Given the description of an element on the screen output the (x, y) to click on. 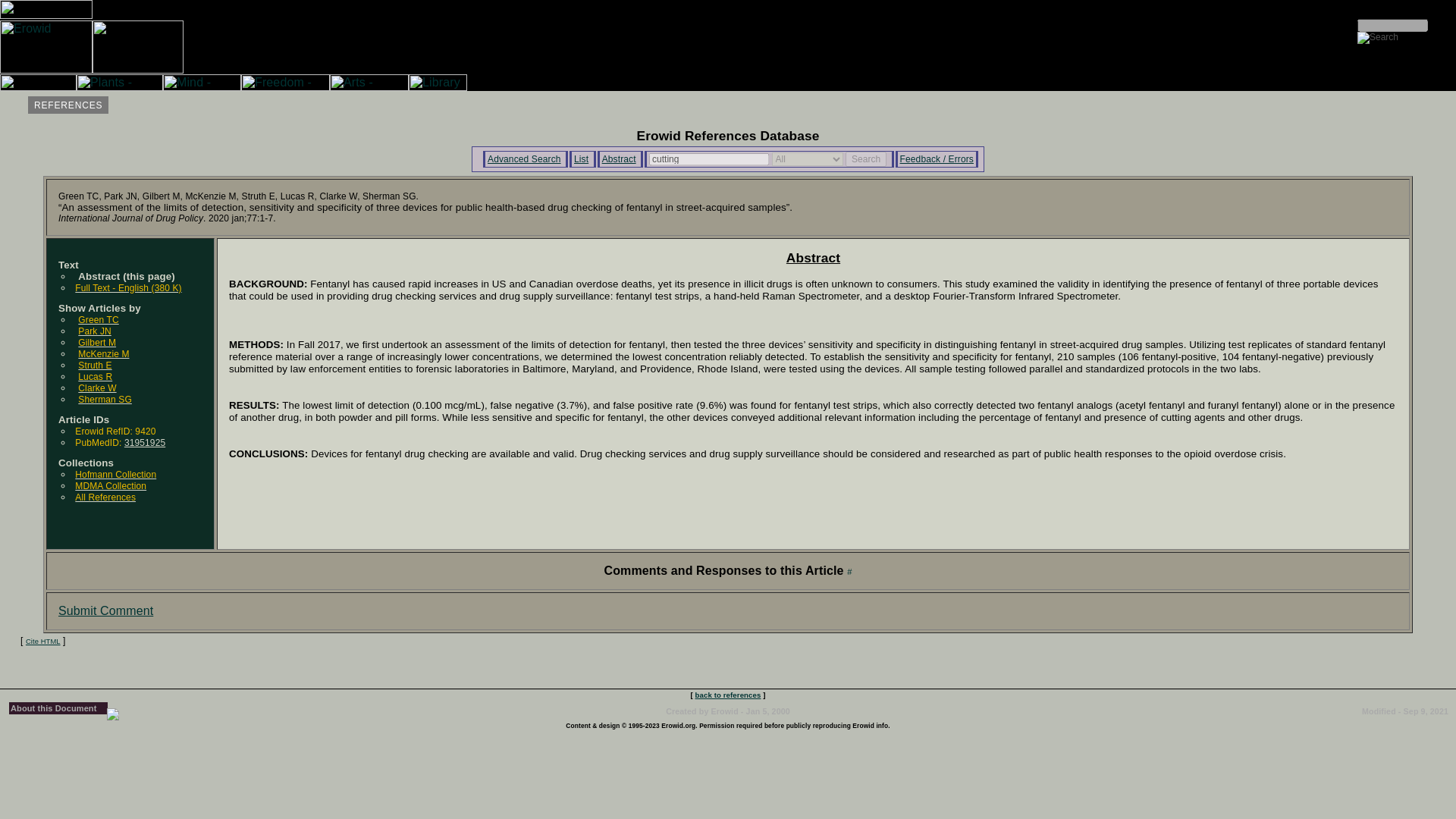
cutting (708, 159)
cutting (708, 159)
Search (865, 159)
Search (865, 159)
